Given the description of an element on the screen output the (x, y) to click on. 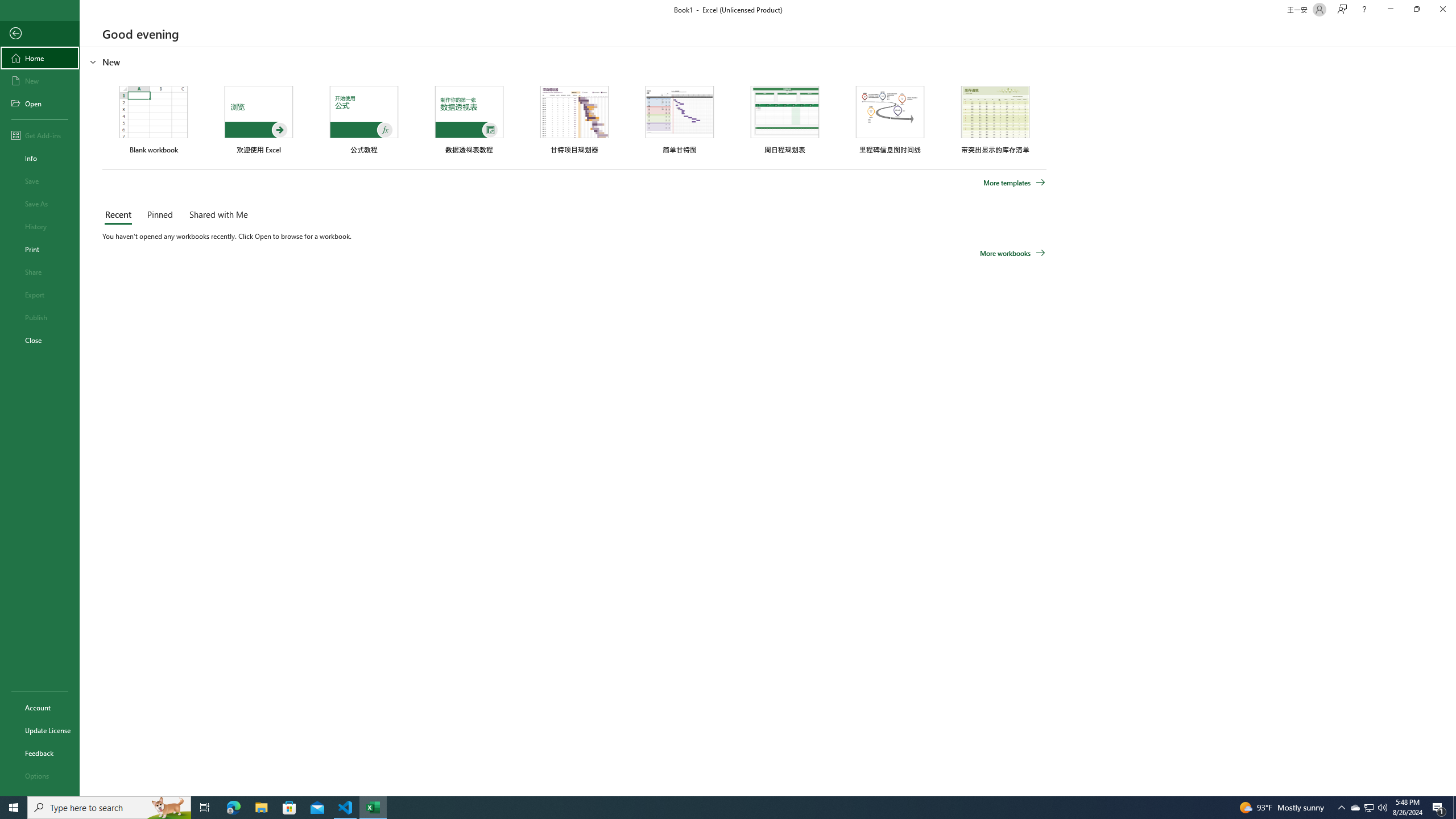
Back (40, 33)
More templates (1014, 182)
Update License (40, 730)
Hide or show region (92, 61)
Shared with Me (215, 215)
Feedback (40, 753)
Save As (40, 203)
Print (40, 248)
Info (40, 157)
